Given the description of an element on the screen output the (x, y) to click on. 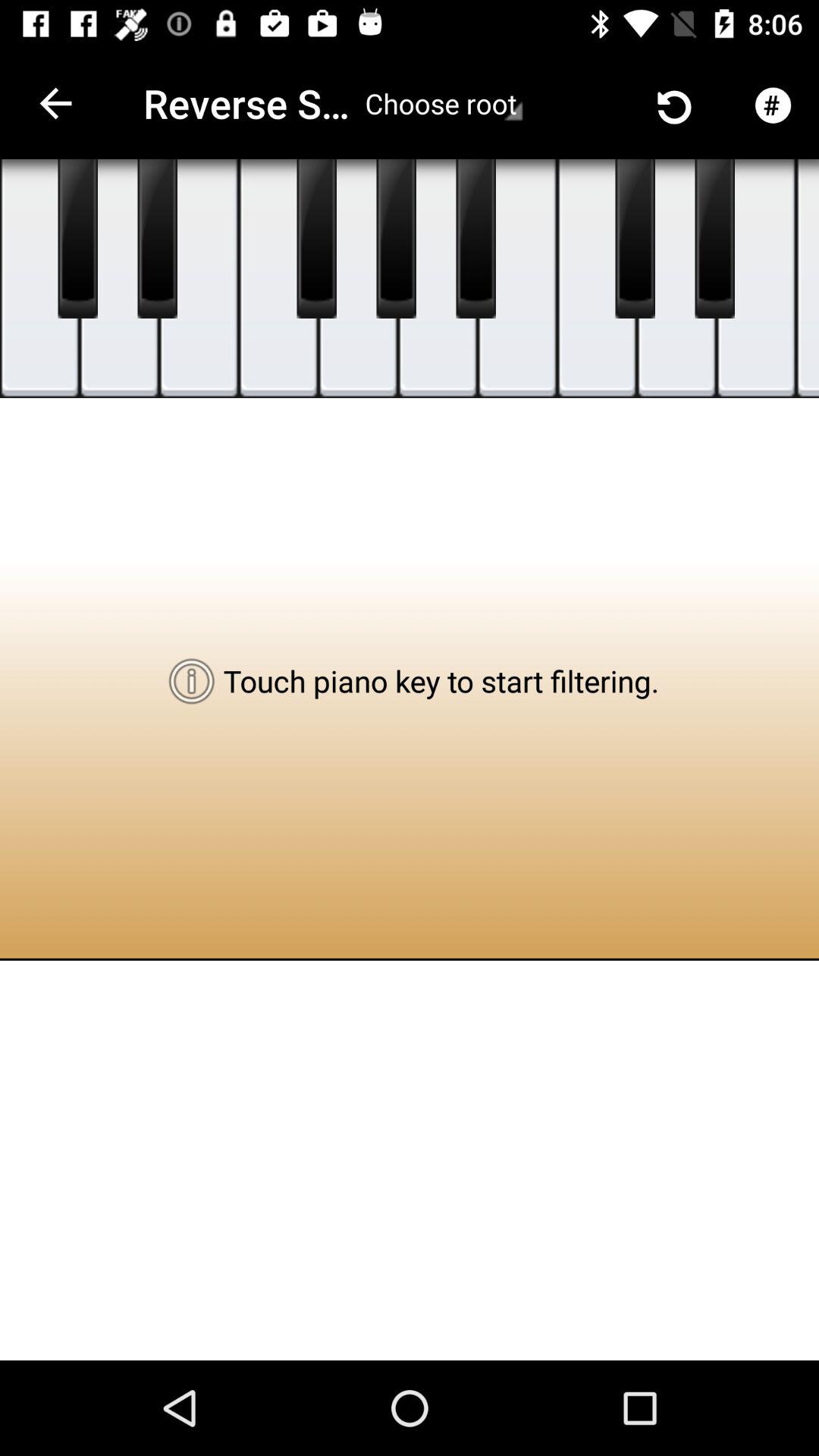
turn off the item above touch piano key icon (437, 278)
